Given the description of an element on the screen output the (x, y) to click on. 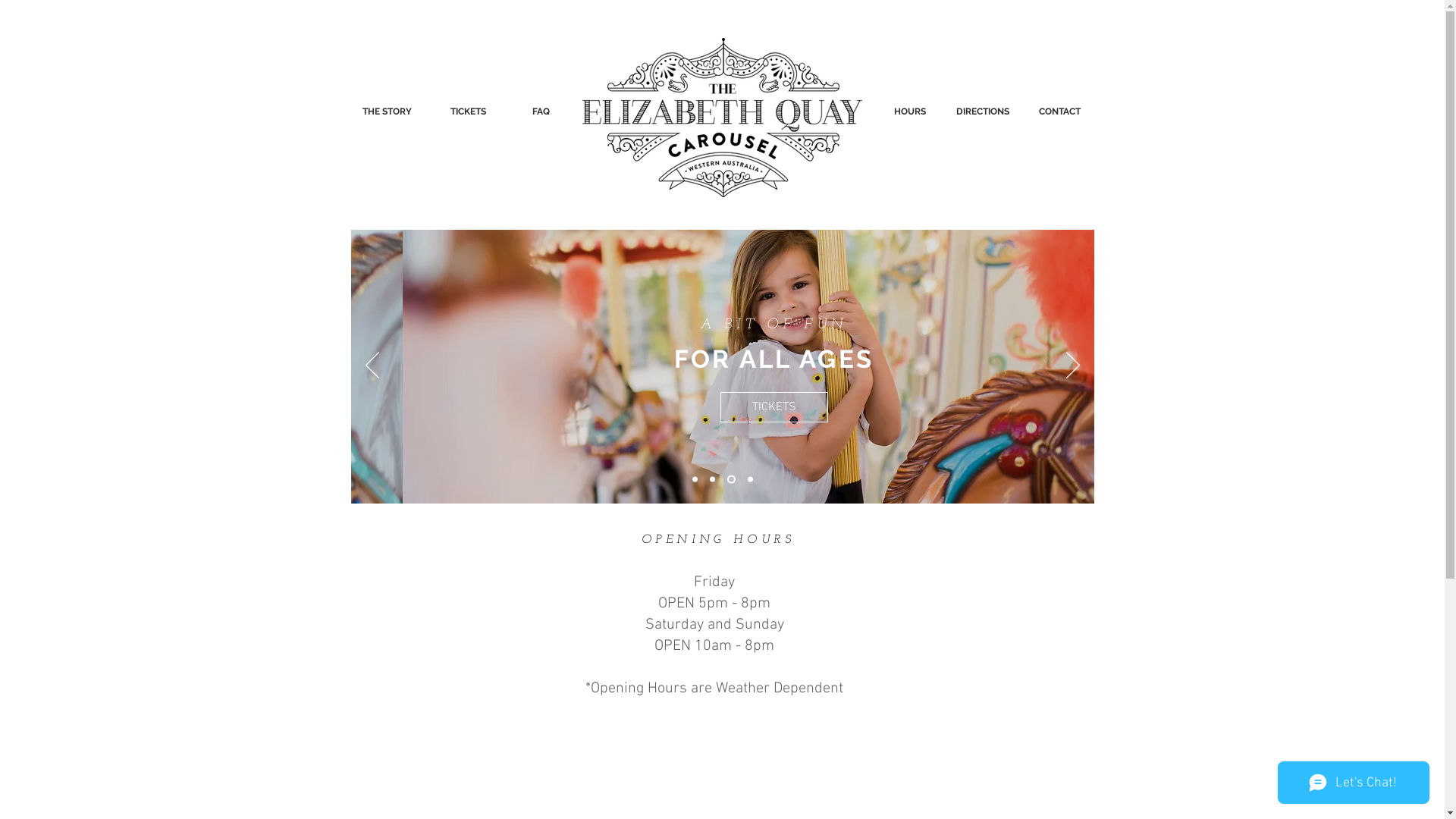
CONTACT Element type: text (1059, 111)
THE STORY Element type: text (386, 111)
DIRECTIONS Element type: text (982, 111)
TICKETS Element type: text (726, 407)
HOURS Element type: text (909, 111)
TICKETS Element type: text (468, 111)
FAQ Element type: text (540, 111)
